Given the description of an element on the screen output the (x, y) to click on. 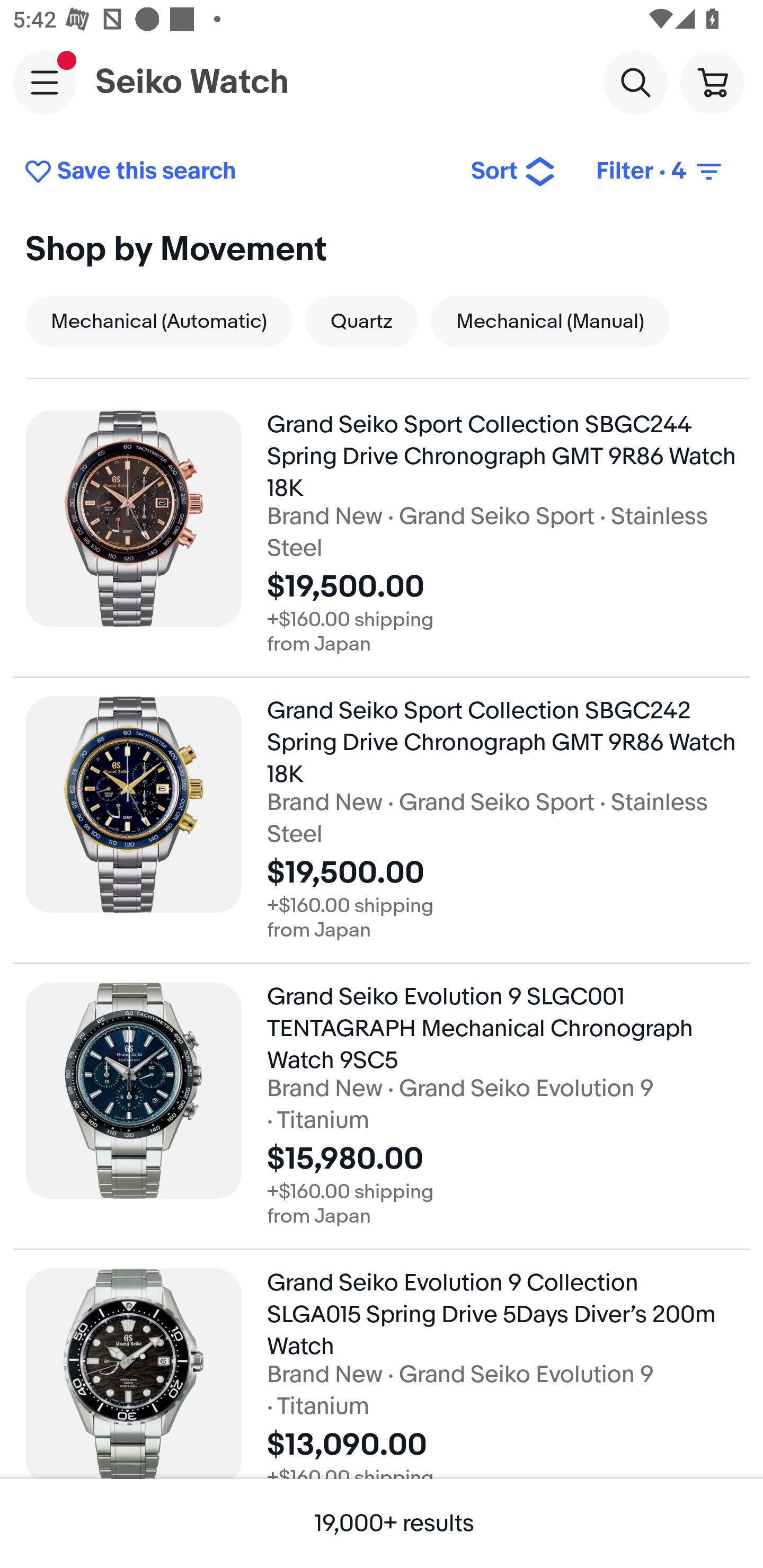
Main navigation, open (44, 82)
Search (635, 81)
Cart button shopping cart (711, 81)
Save this search (234, 171)
Sort (513, 171)
Filter • 4 Filter (4 applied) (660, 171)
Quartz Quartz, Movement (361, 321)
Mechanical (Manual) Mechanical (Manual), Movement (550, 321)
